Given the description of an element on the screen output the (x, y) to click on. 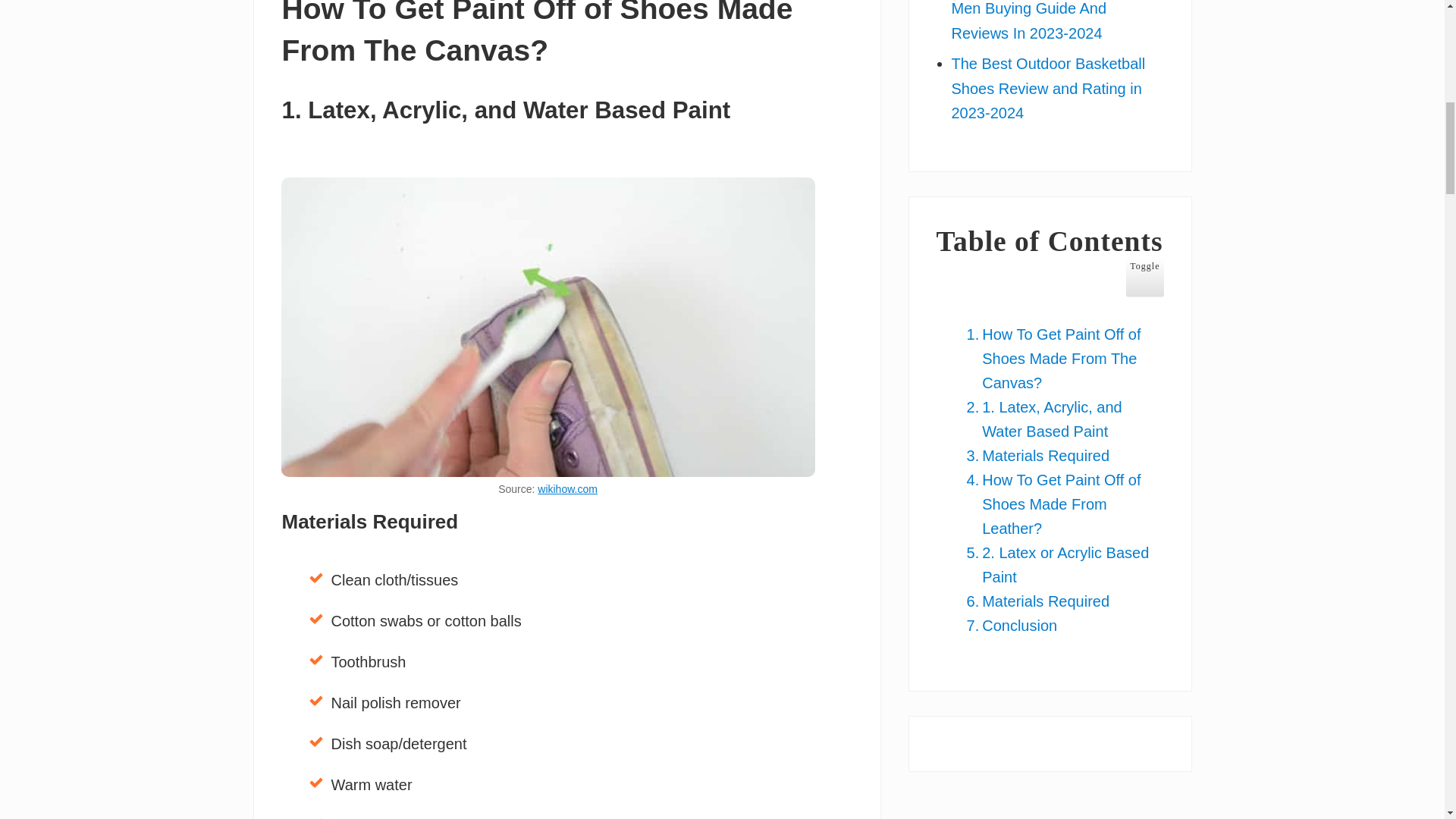
1. Latex, Acrylic, and Water Based Paint (1057, 418)
How To Get Paint Off of Shoes Made From The Canvas? (1057, 358)
2. Latex or Acrylic Based Paint (1057, 564)
wikihow.com (566, 489)
Materials Required (1033, 455)
How To Get Paint Off of Shoes Made From Leather? (1057, 503)
